Given the description of an element on the screen output the (x, y) to click on. 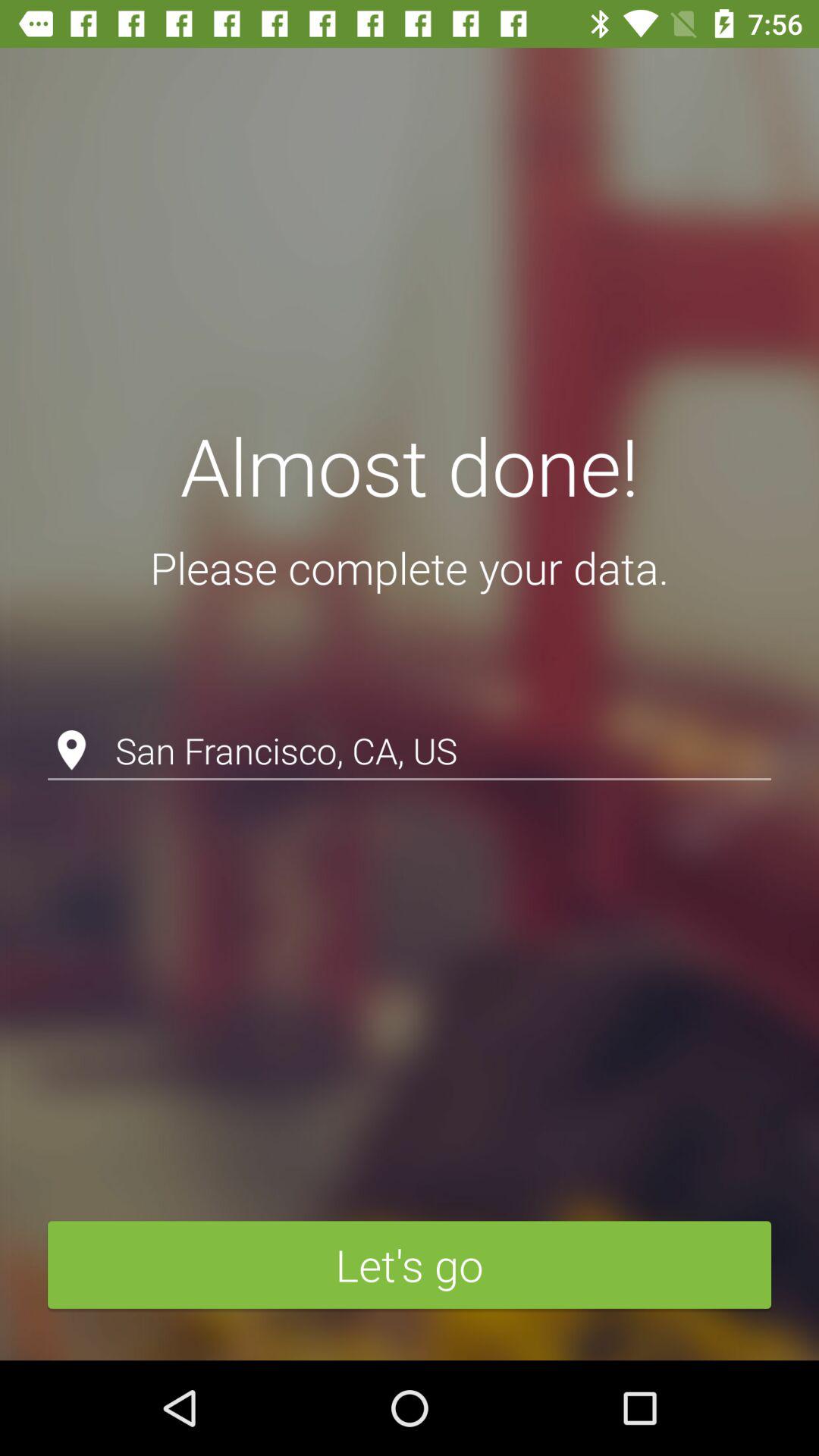
address page (409, 711)
